Given the description of an element on the screen output the (x, y) to click on. 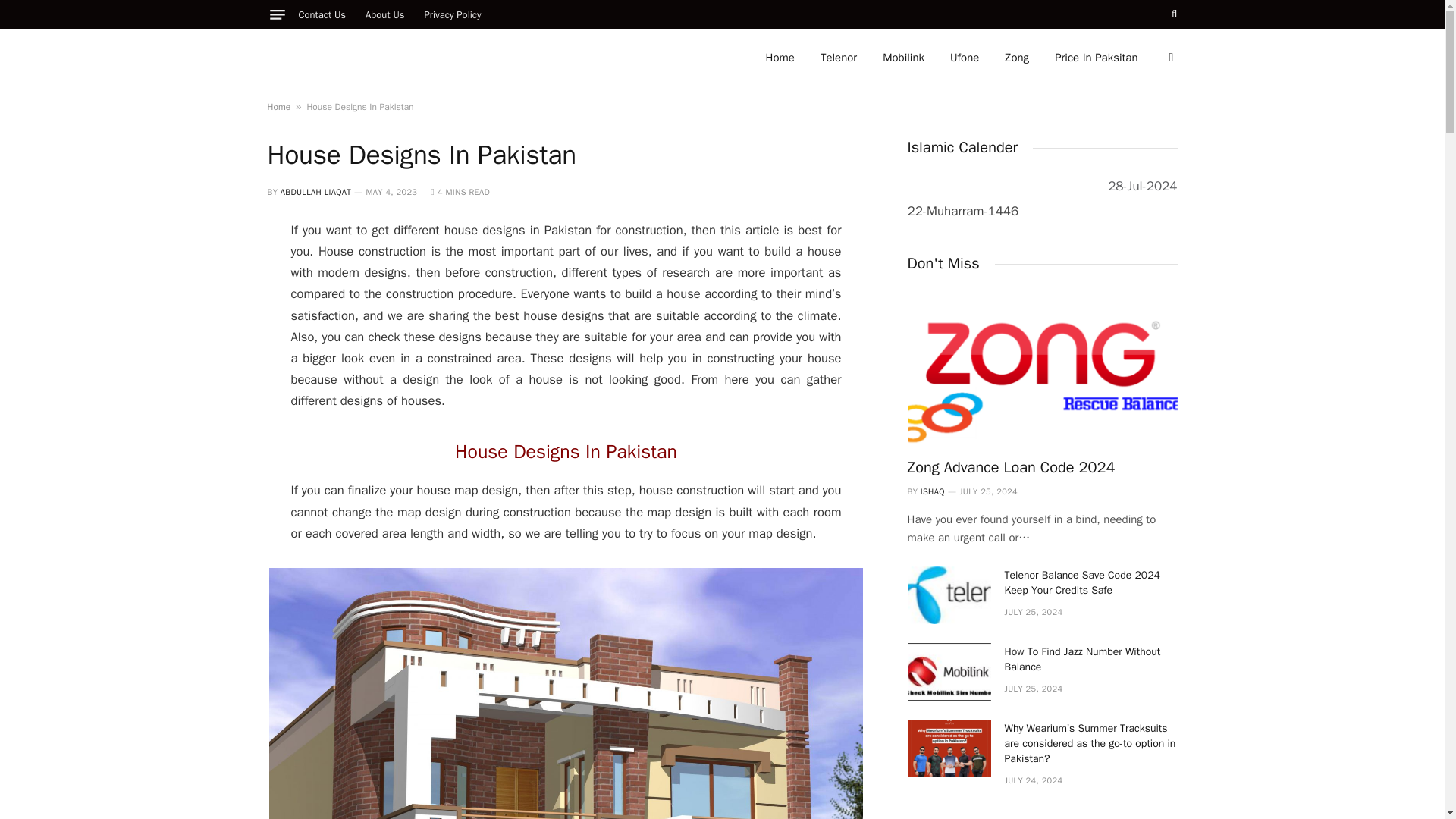
Mobilink (903, 57)
Price In Paksitan (1096, 57)
ABDULLAH LIAQAT (315, 191)
Switch to Dark Design - easier on eyes. (1168, 57)
Privacy Policy (451, 14)
Home (780, 57)
About Us (384, 14)
Posts by Abdullah Liaqat (315, 191)
Contact Us (321, 14)
Telenor (838, 57)
Ufone (964, 57)
Home (277, 106)
